Given the description of an element on the screen output the (x, y) to click on. 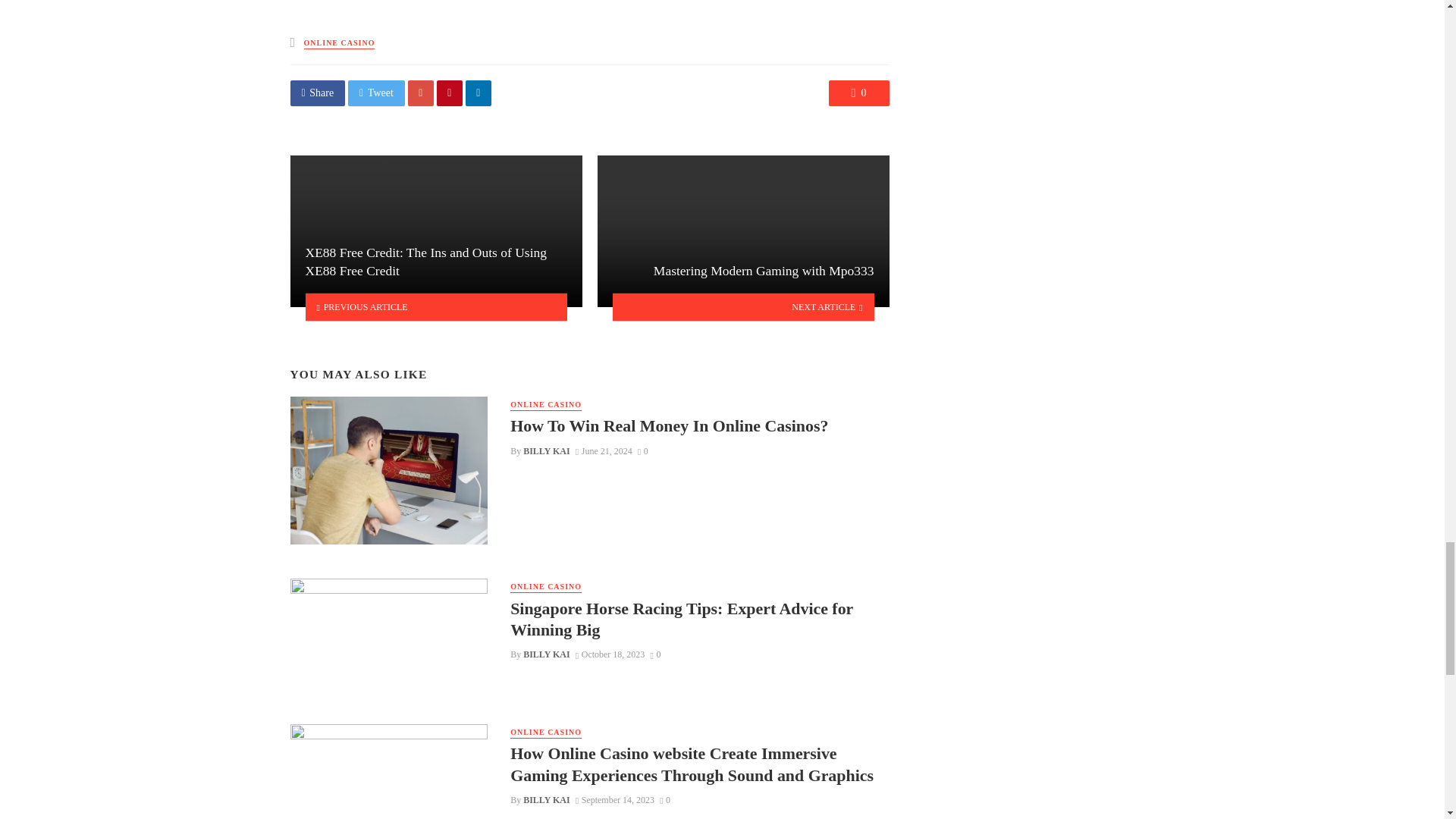
0 Comments (858, 93)
Share on Facebook (317, 93)
0 (858, 93)
Tweet (375, 93)
Share on Twitter (375, 93)
BILLY KAI (545, 450)
Share on Linkedin (478, 93)
How To Win Real Money In Online Casinos? (669, 425)
ONLINE CASINO (339, 43)
PREVIOUS ARTICLE (434, 306)
ONLINE CASINO (545, 405)
NEXT ARTICLE (742, 306)
Share on Pinterest (449, 93)
Share (317, 93)
0 (642, 450)
